Given the description of an element on the screen output the (x, y) to click on. 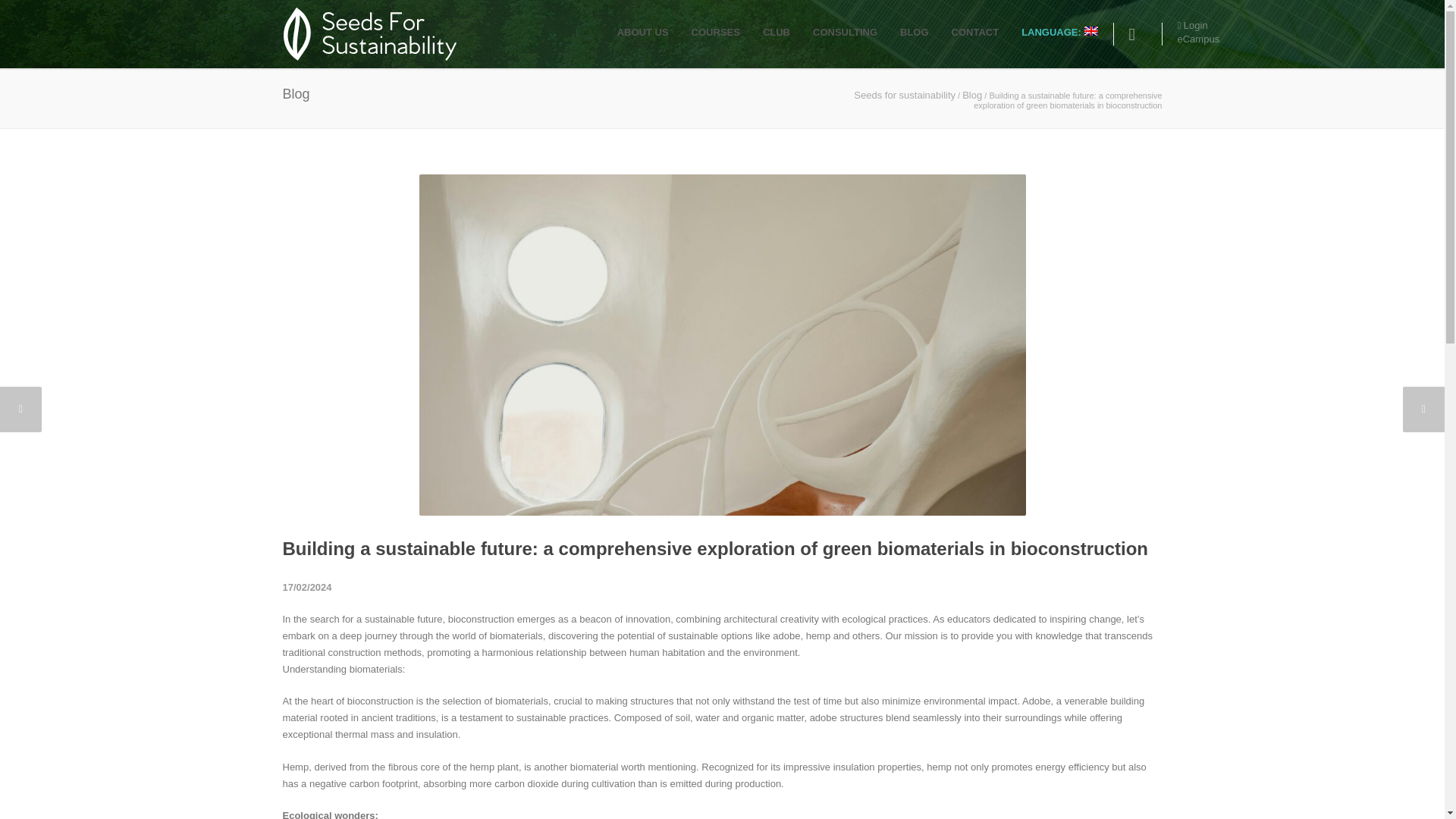
ABOUT US (642, 32)
CLUB (776, 32)
LANGUAGE:  (1059, 32)
Login eCampus (1206, 31)
BLOG (914, 32)
Blog (971, 94)
CONTACT (975, 32)
COURSES (715, 32)
